Given the description of an element on the screen output the (x, y) to click on. 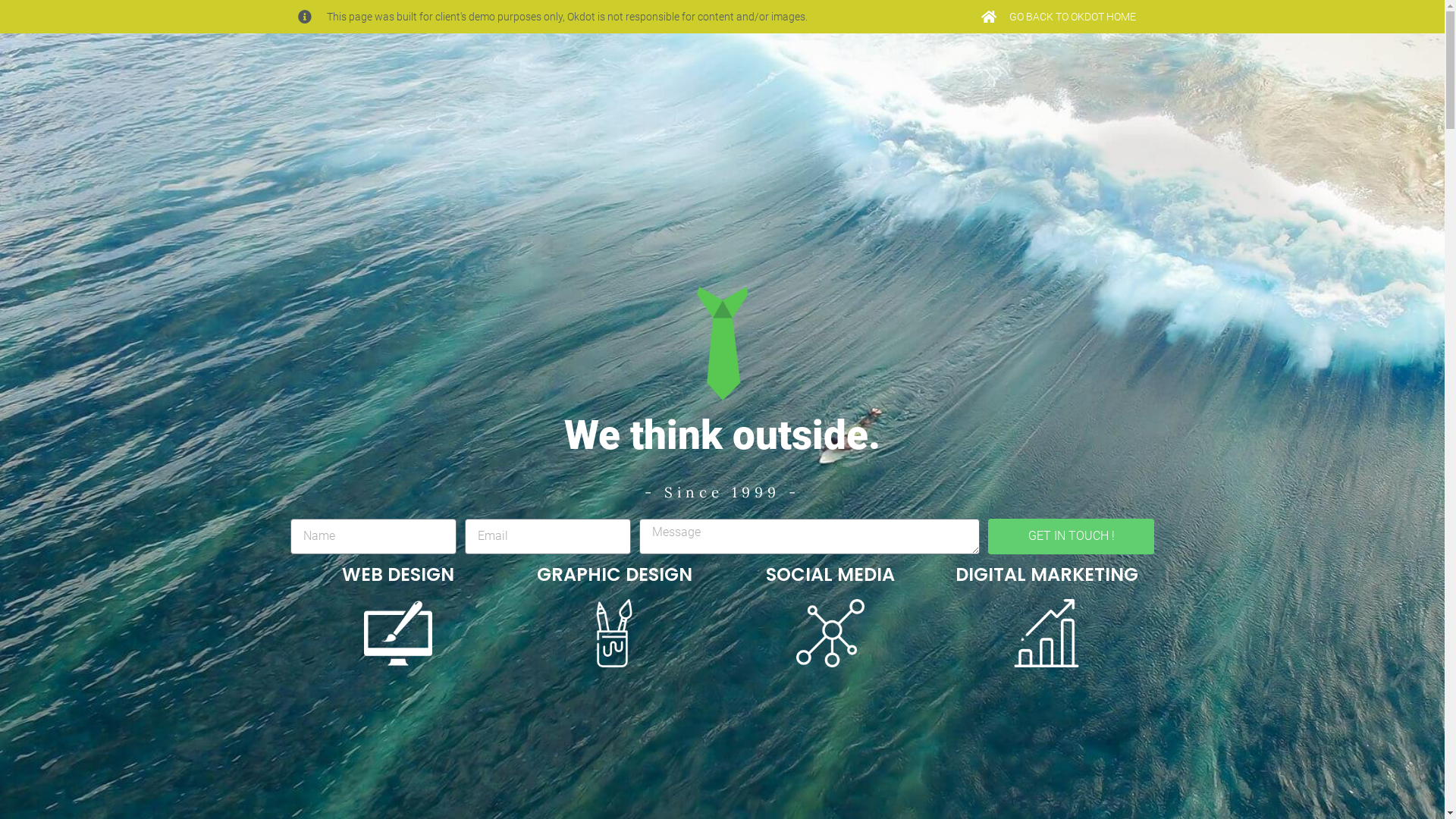
GO BACK TO OKDOT HOME Element type: text (1057, 16)
GET IN TOUCH ! Element type: text (1071, 536)
